Given the description of an element on the screen output the (x, y) to click on. 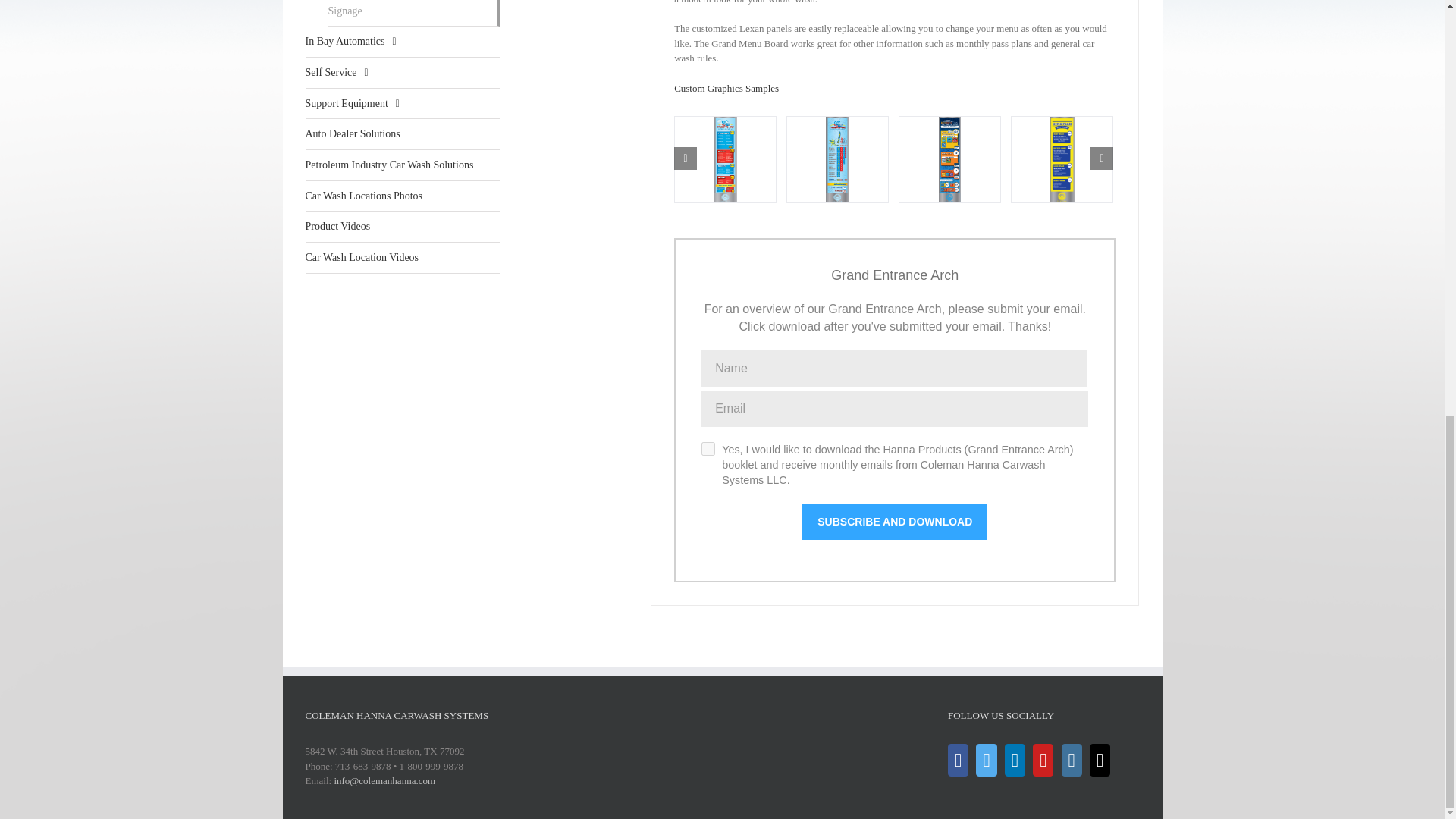
on (707, 448)
Subscribe and Download (894, 521)
